Given the description of an element on the screen output the (x, y) to click on. 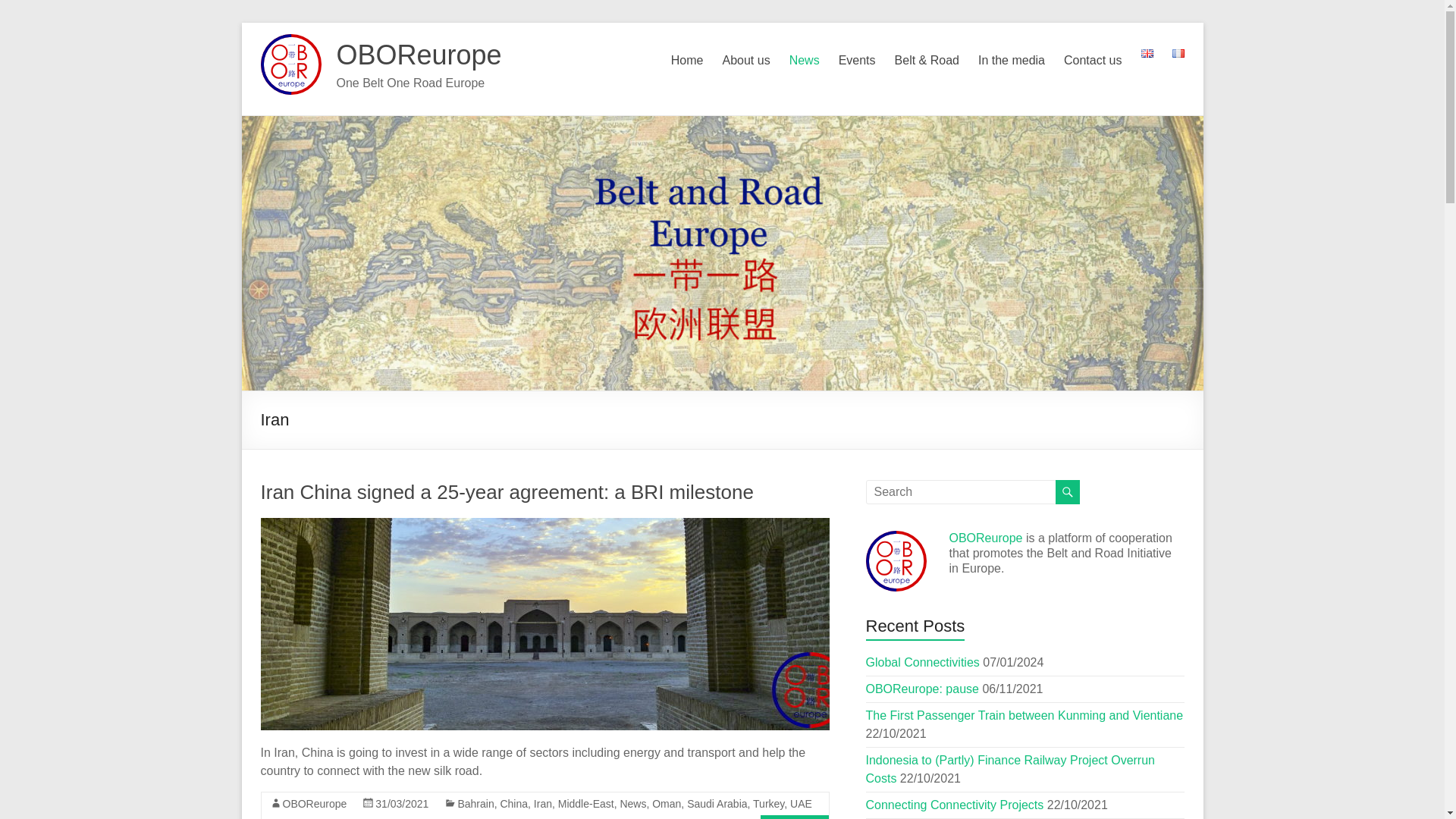
Iran China signed a 25-year agreement: a BRI milestone (507, 491)
OBOReurope (419, 54)
OBOReurope (419, 54)
Iran China signed a 25-year agreement: a BRI milestone (544, 524)
About us (746, 60)
16:51 (401, 803)
Home (687, 60)
News (804, 60)
Iran China signed a 25-year agreement: a BRI milestone (544, 623)
